Given the description of an element on the screen output the (x, y) to click on. 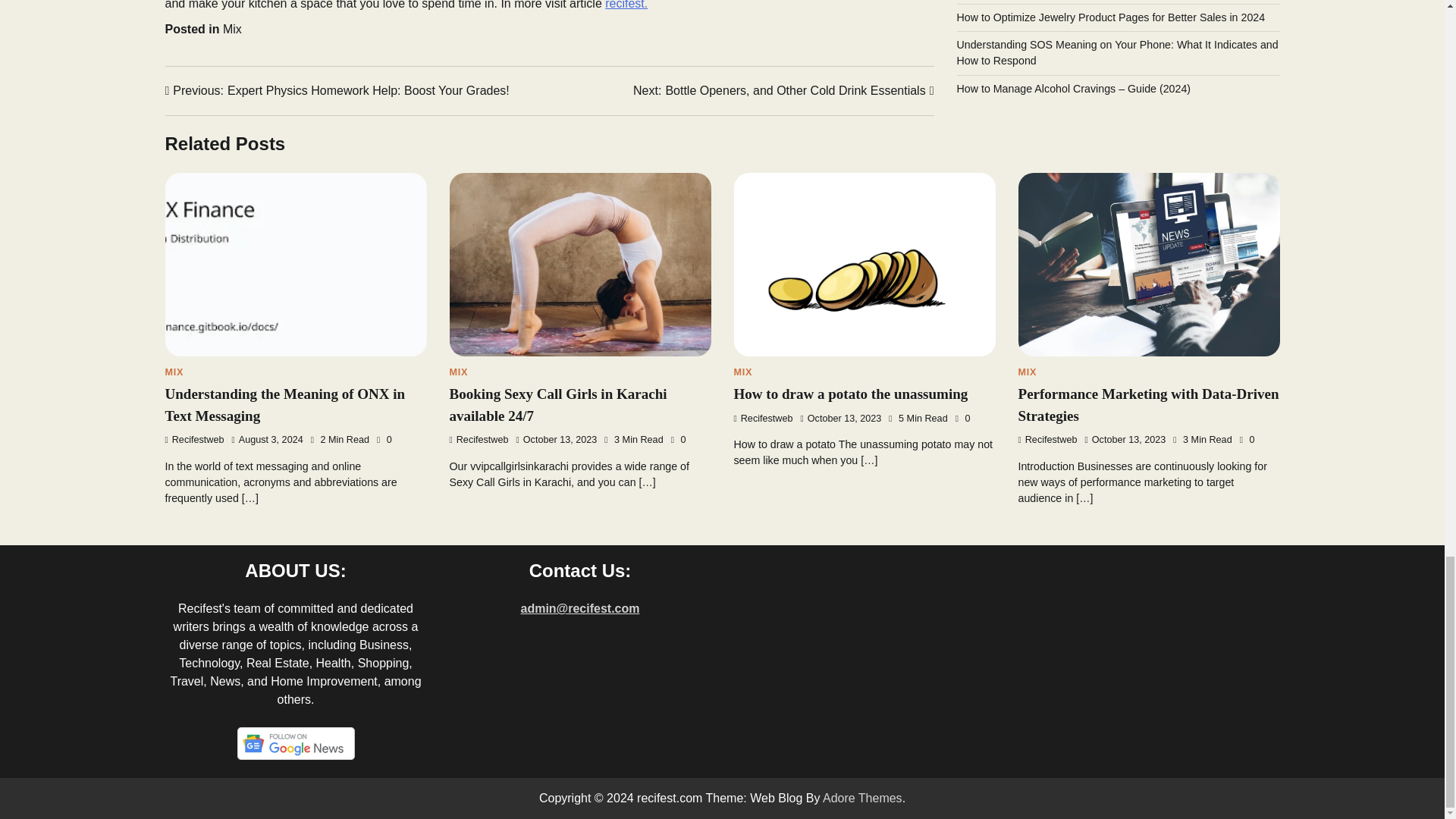
Recifestweb (194, 439)
recifest. (337, 90)
How to draw a potato the unassuming (626, 4)
MIX (850, 393)
MIX (742, 371)
Mix (457, 371)
MIX (231, 29)
Understanding the Meaning of ONX in Text Messaging (174, 371)
